Given the description of an element on the screen output the (x, y) to click on. 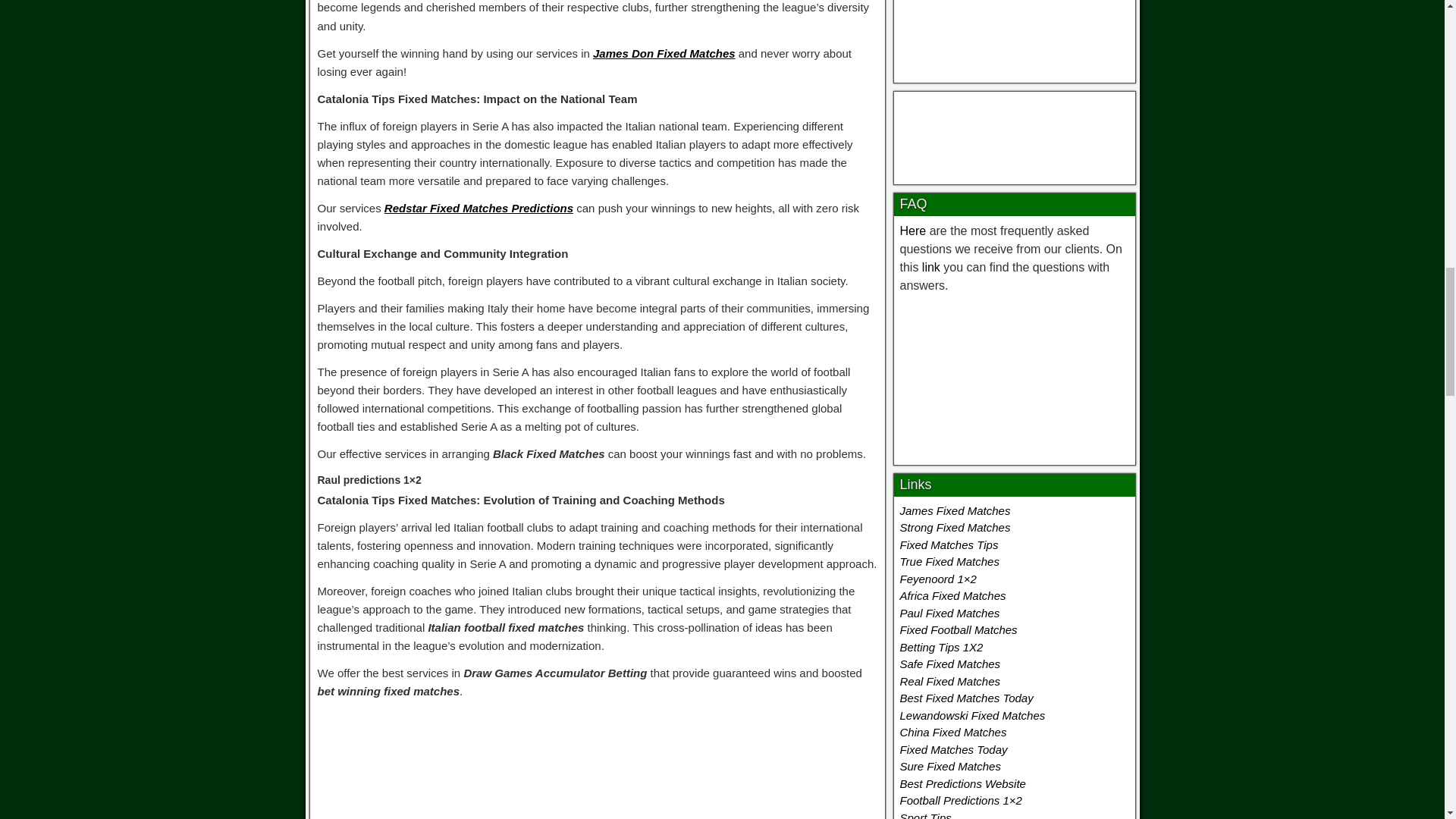
winning tips predictions sources (1013, 33)
handicap h2h fixed matches betting (1014, 134)
Redstar Fixed Matches Predictions (478, 207)
ticket big odds betting (1013, 376)
Catalonia Tips Fixed Matches (597, 765)
James Don Fixed Matches (663, 52)
